Given the description of an element on the screen output the (x, y) to click on. 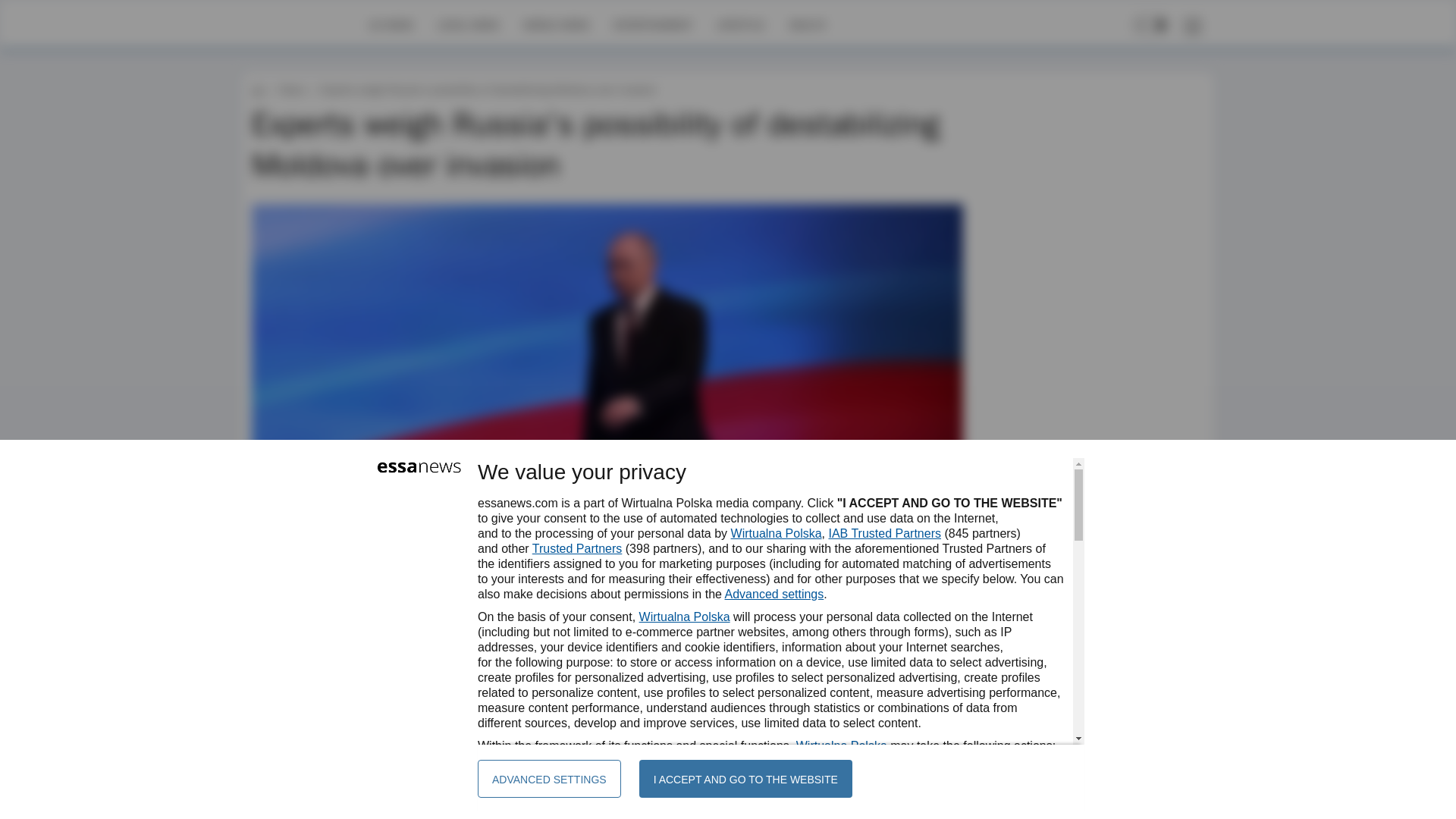
US NEWS (390, 24)
ENTERTAINMENT (652, 24)
RST (298, 641)
News (291, 89)
HEALTH (807, 24)
Homepage (305, 24)
News (291, 89)
essanews.com (257, 89)
LIFESTYLE (740, 24)
LOCAL NEWS (468, 24)
RST (298, 641)
WORLD NEWS (555, 24)
SHARE (936, 649)
